Given the description of an element on the screen output the (x, y) to click on. 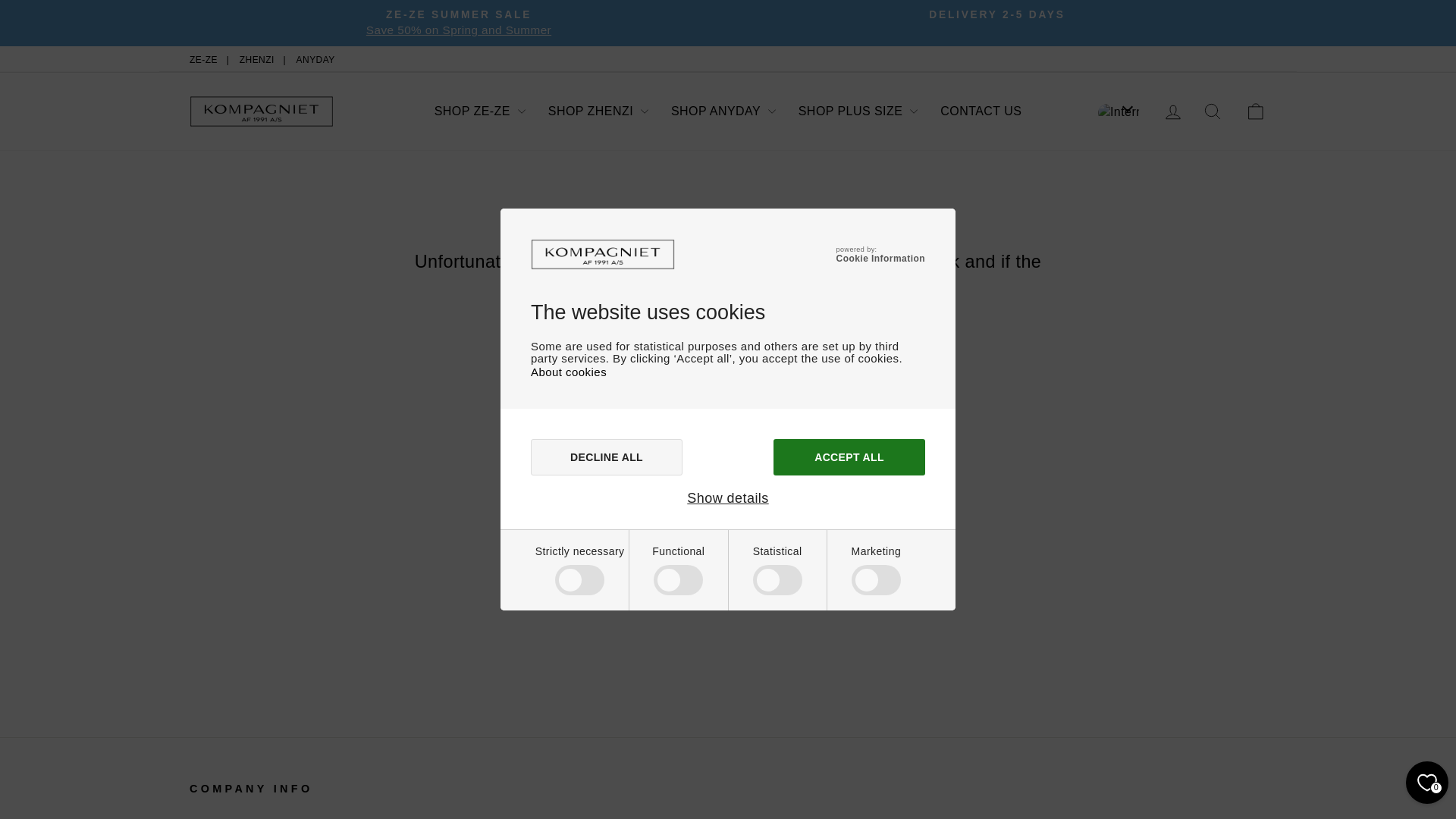
DECLINE ALL (606, 456)
Show details (727, 498)
About cookies (569, 371)
Cookie Information (879, 258)
ACCEPT ALL (848, 456)
